Given the description of an element on the screen output the (x, y) to click on. 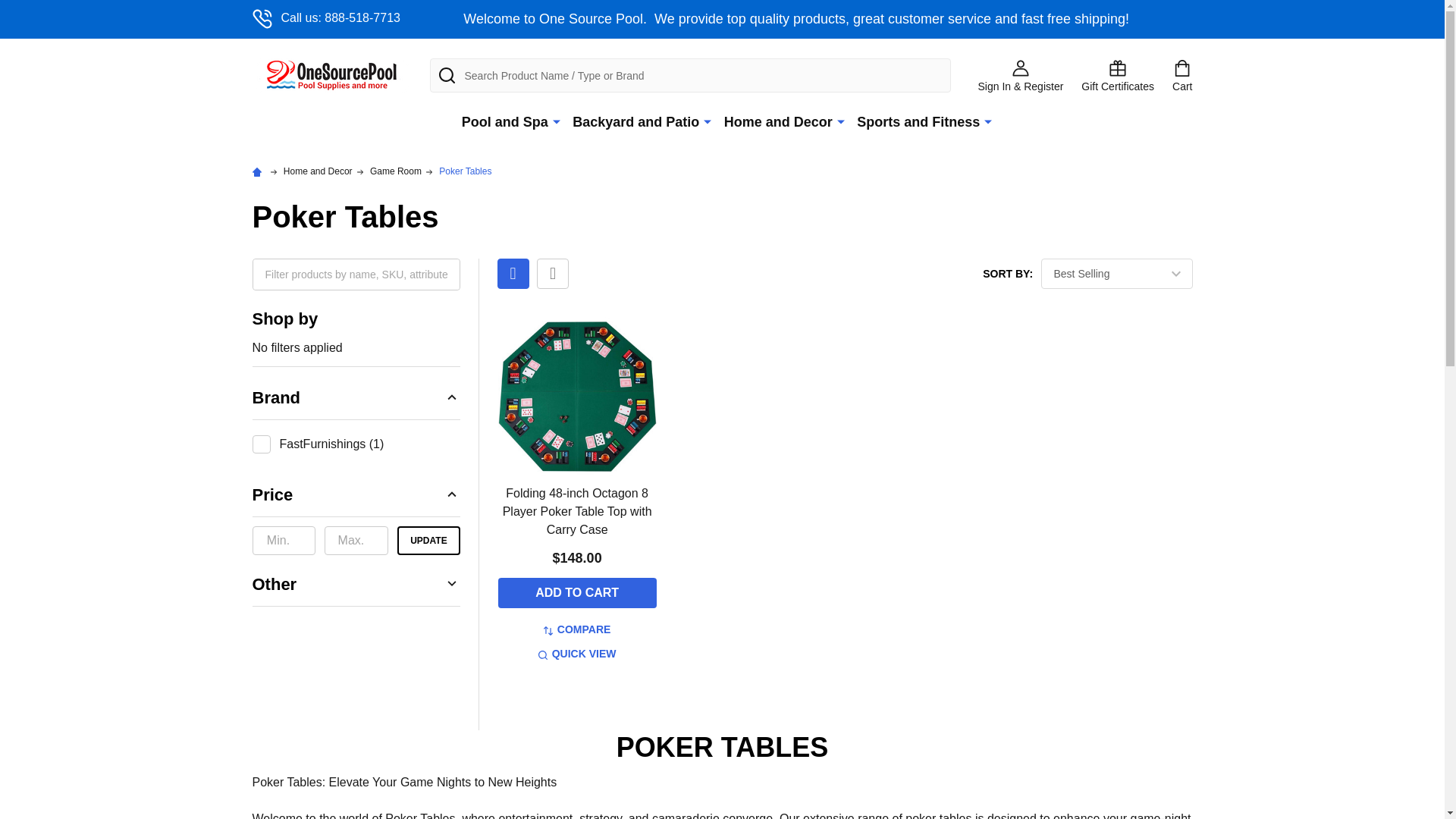
Call us: 888-518-7713 (324, 17)
OneSourcePool (330, 74)
Gift Certificates (1117, 74)
Gift Certificates (1117, 74)
Pool and Spa (501, 121)
